Given the description of an element on the screen output the (x, y) to click on. 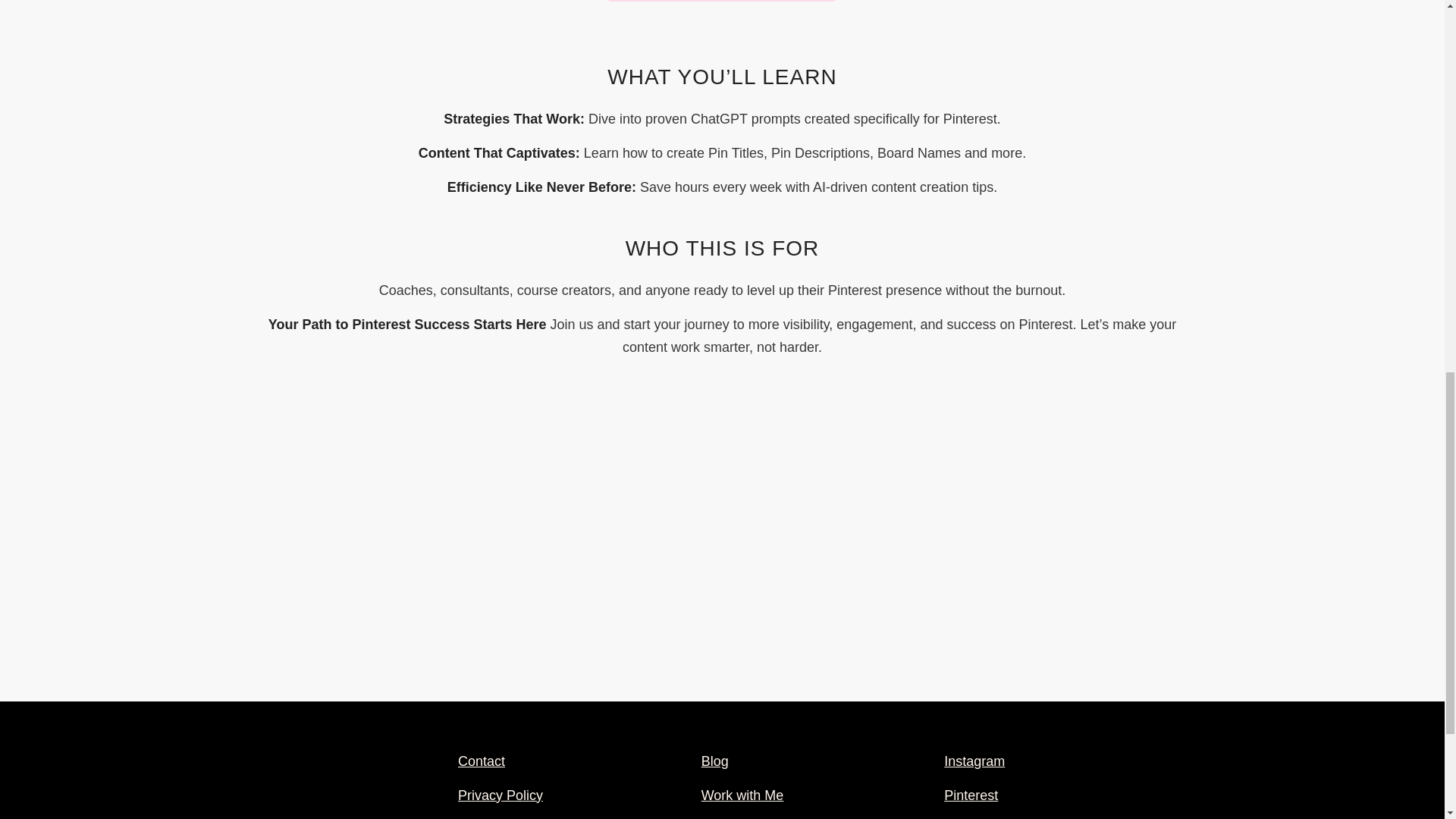
Contact (481, 761)
Pinterest Marketing with ChatGPT (721, 548)
Work with Me (742, 795)
Blog (715, 761)
Privacy Policy (500, 795)
Logo DeeDeeCreative (333, 779)
Pinterest (970, 795)
Instagram (973, 761)
